Given the description of an element on the screen output the (x, y) to click on. 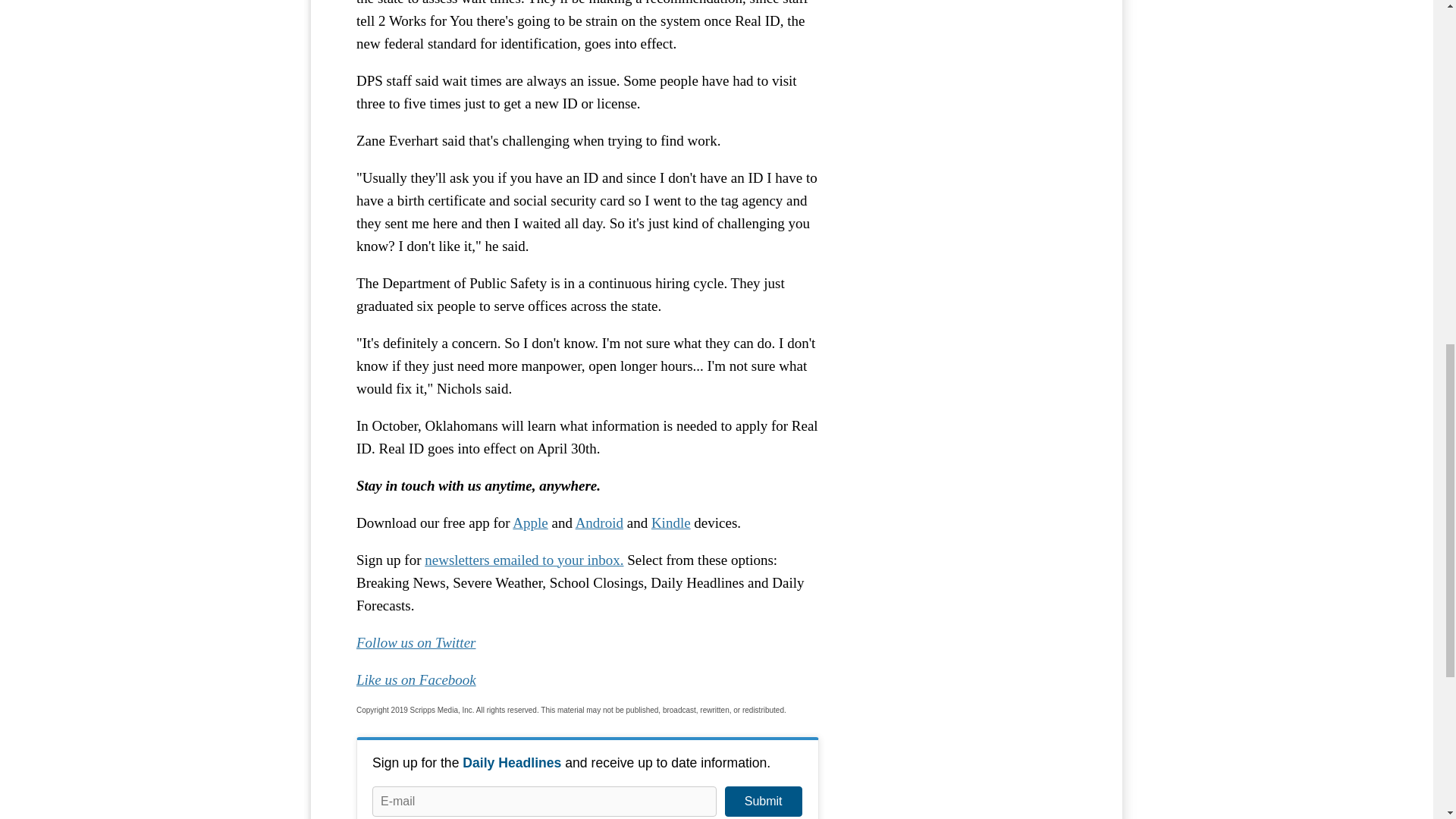
Submit (763, 801)
